Given the description of an element on the screen output the (x, y) to click on. 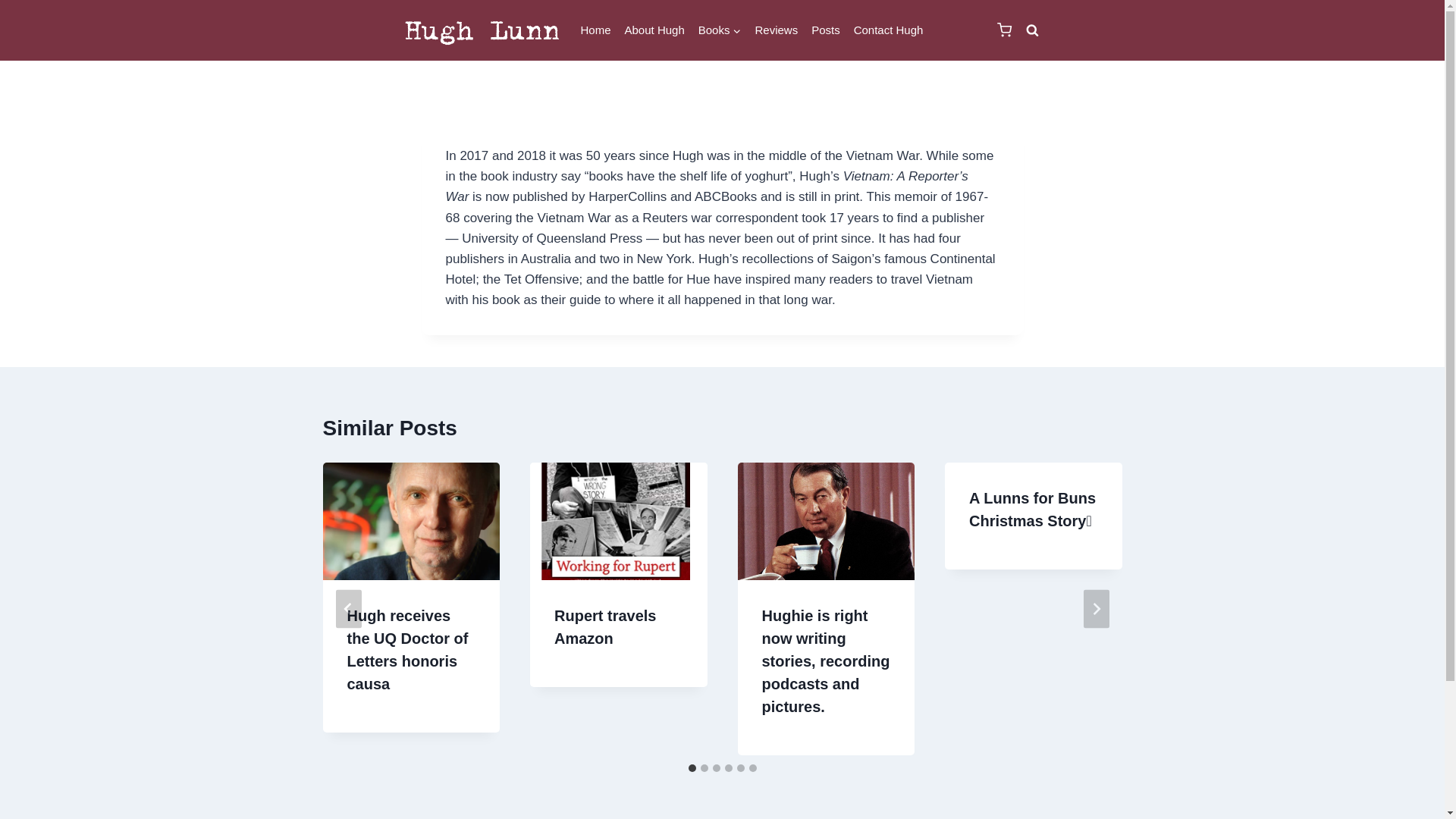
About Hugh Element type: text (654, 30)
Reviews Element type: text (775, 30)
Home Element type: text (595, 30)
Hugh receives the UQ Doctor of Letters honoris causa Element type: text (407, 649)
Books Element type: text (719, 30)
Rupert travels Amazon Element type: text (605, 626)
Posts Element type: text (825, 30)
Contact Hugh Element type: text (888, 30)
